Given the description of an element on the screen output the (x, y) to click on. 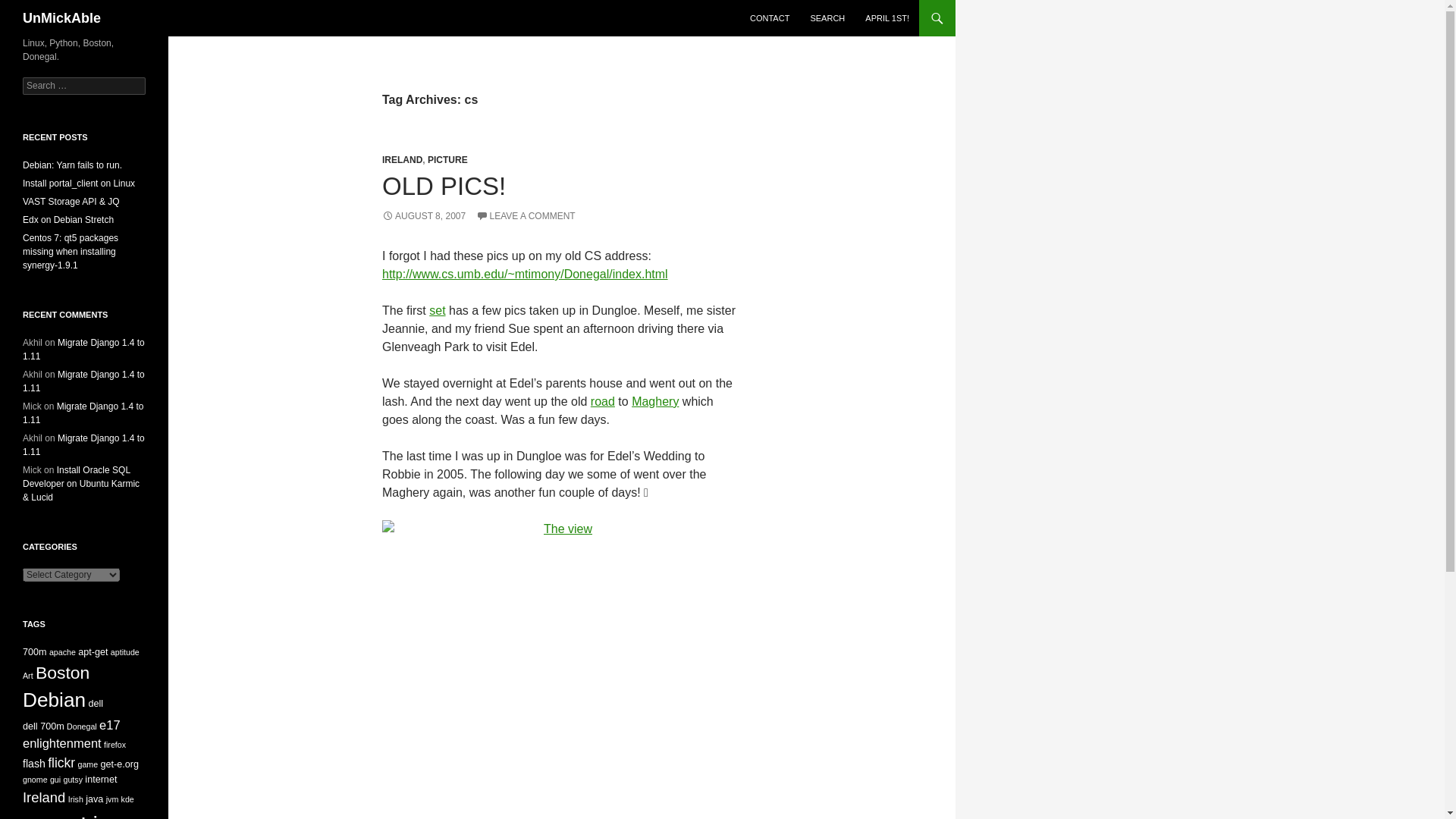
Edx on Debian Stretch (68, 219)
Dungloe Pics (437, 309)
LEAVE A COMMENT (525, 215)
IRELAND (401, 159)
Migrate Django 1.4 to 1.11 (83, 349)
Maghery (654, 400)
Migrate Django 1.4 to 1.11 (83, 381)
UnMickAble (61, 18)
set (437, 309)
SEARCH (826, 18)
PICTURE (447, 159)
road (602, 400)
AUGUST 8, 2007 (423, 215)
Search (30, 8)
CONTACT (769, 18)
